Given the description of an element on the screen output the (x, y) to click on. 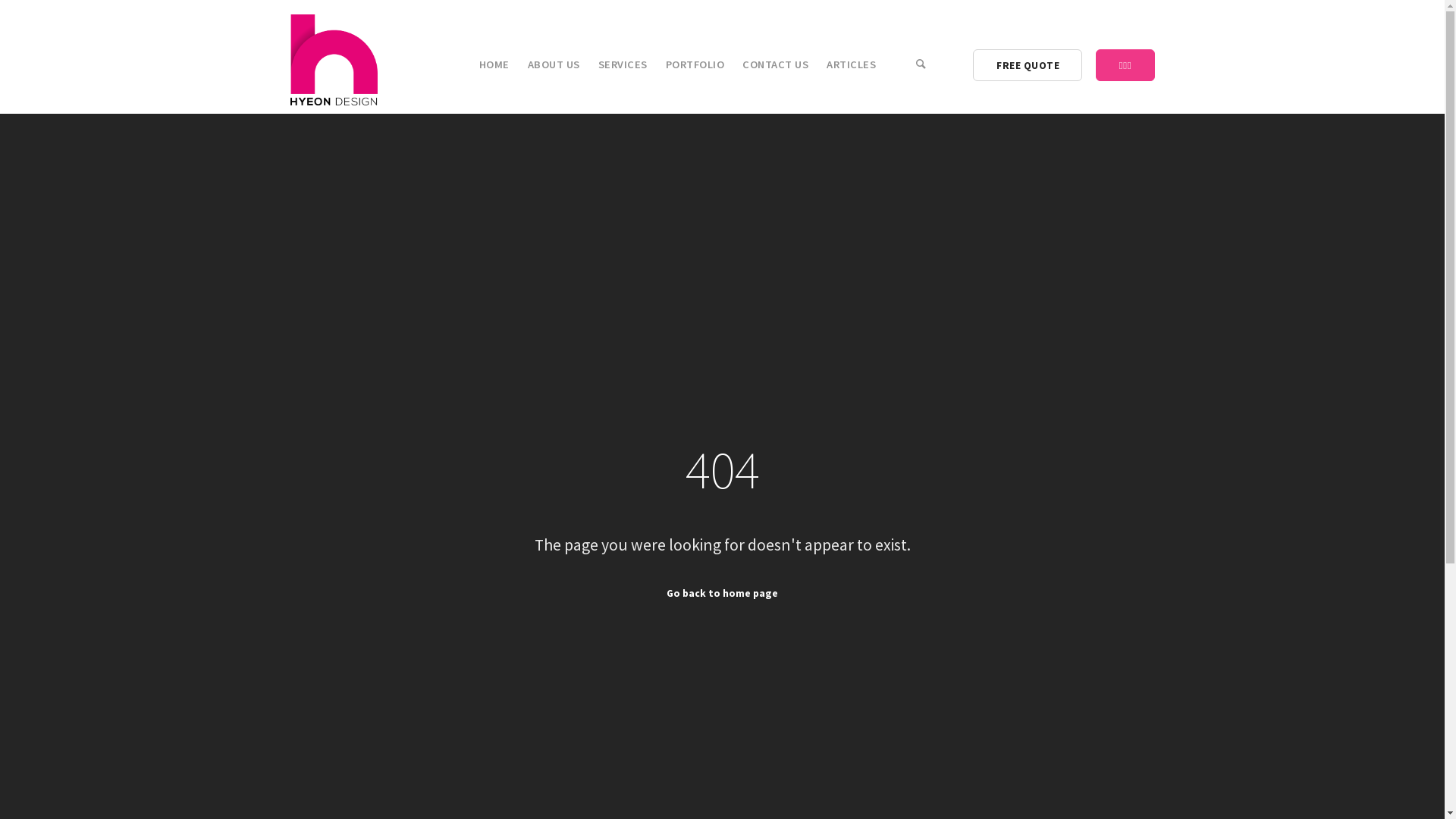
ARTICLES Element type: text (850, 64)
Go back to home page Element type: text (722, 592)
HOME Element type: text (494, 64)
FREE QUOTE Element type: text (1027, 65)
CONTACT US Element type: text (775, 64)
SERVICES Element type: text (622, 64)
ABOUT US Element type: text (553, 64)
PORTFOLIO Element type: text (694, 64)
